Given the description of an element on the screen output the (x, y) to click on. 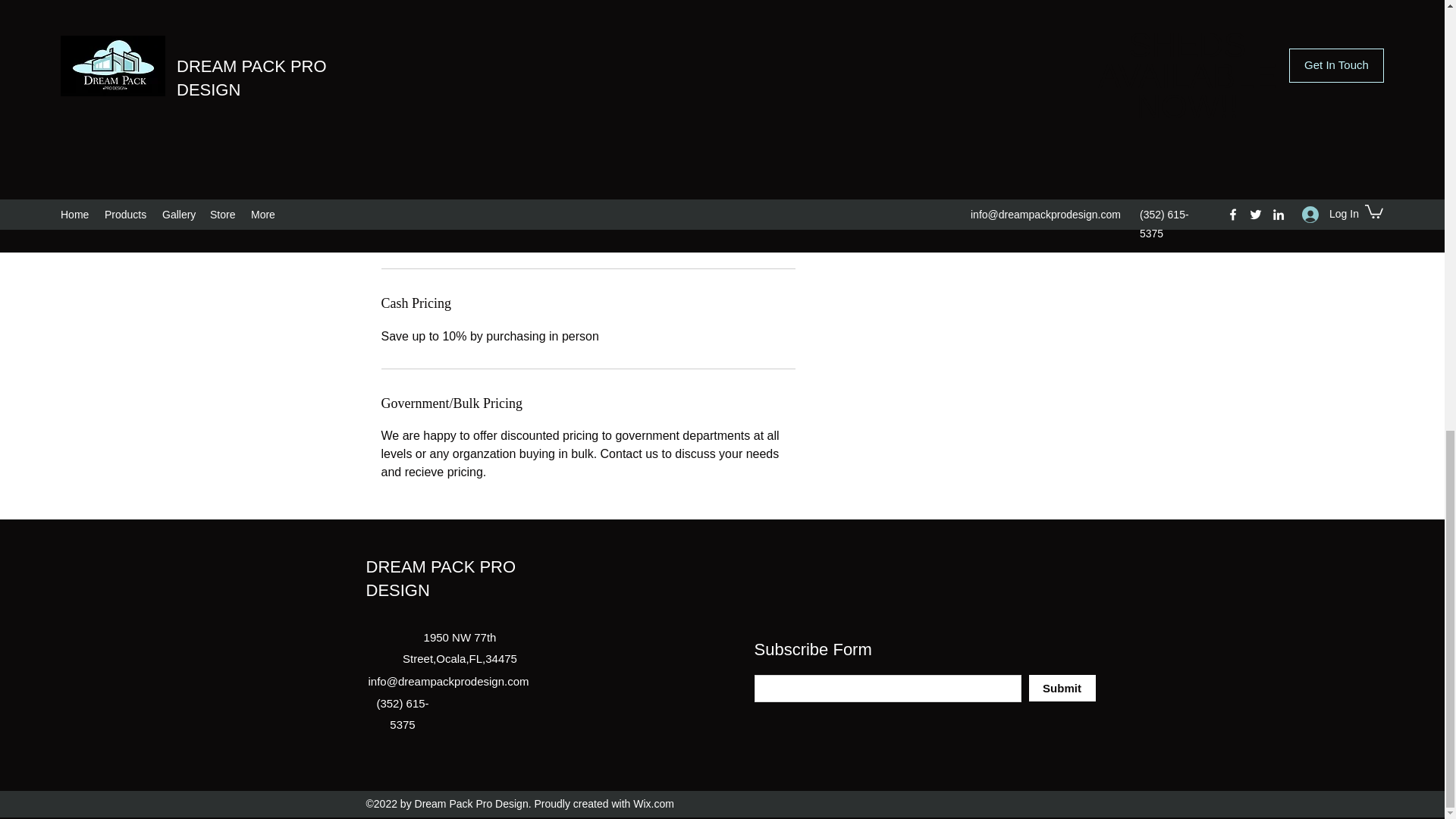
Submit (1060, 687)
1 (893, 118)
Add to Cart (959, 173)
